Given the description of an element on the screen output the (x, y) to click on. 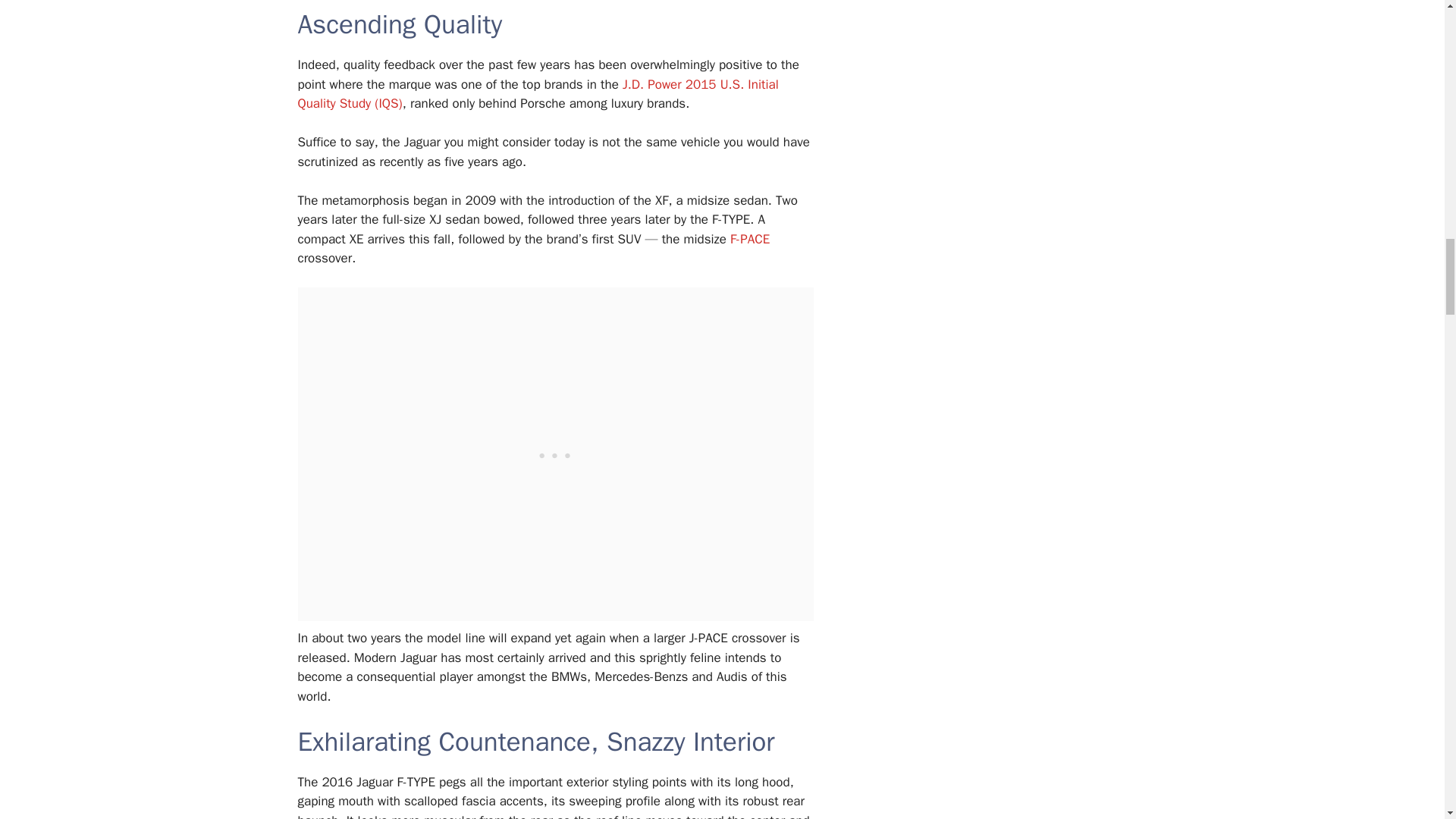
F-PACE (750, 238)
